Given the description of an element on the screen output the (x, y) to click on. 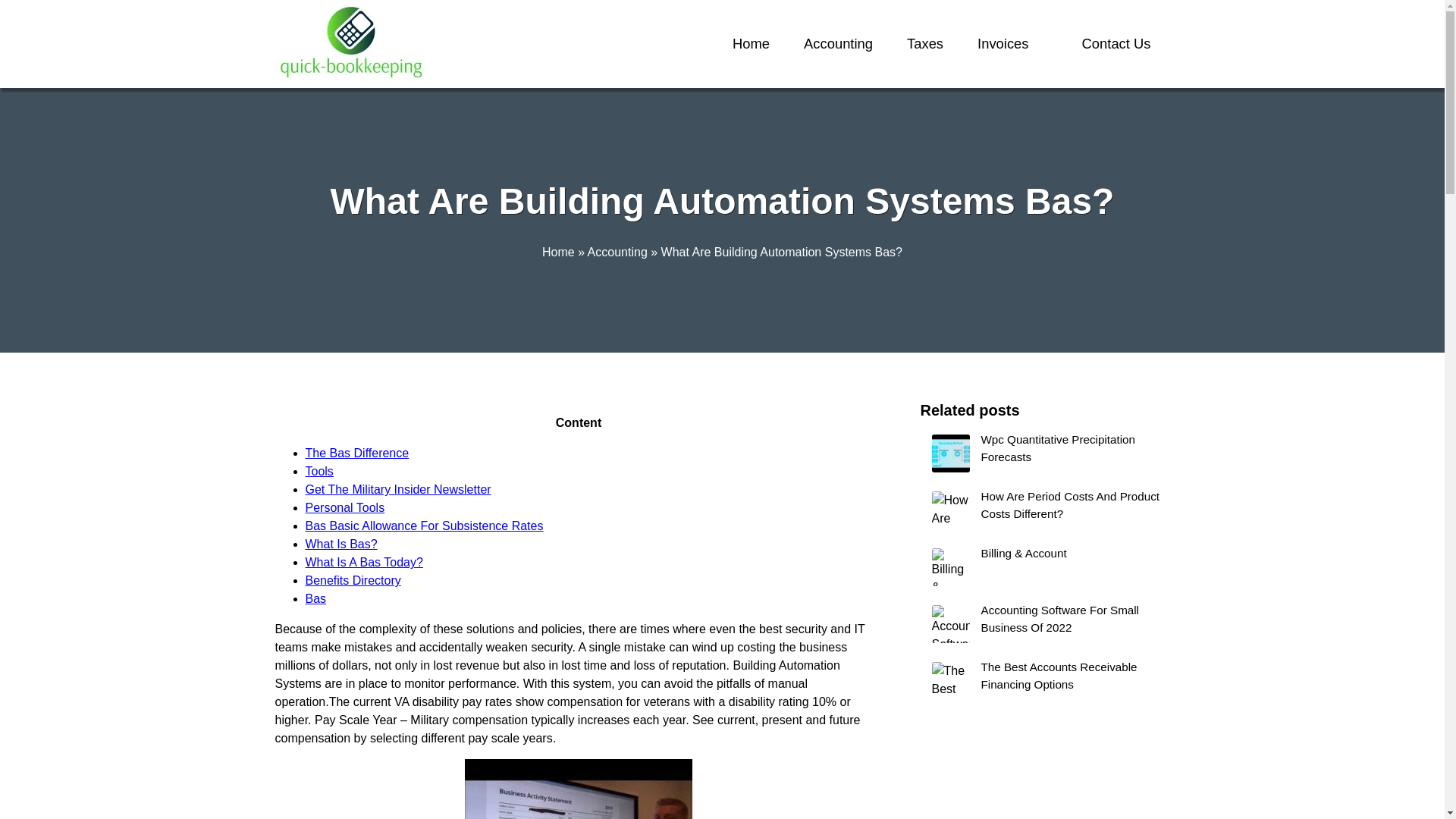
Personal Tools (344, 507)
Wpc Quantitative Precipitation Forecasts (1045, 453)
The Bas Difference (356, 452)
Home (558, 251)
Benefits Directory (352, 580)
Taxes (925, 43)
Accounting Software For Small Business Of 2022 (1045, 623)
How Are Period Costs And Product Costs Different? (1045, 510)
Invoices (1001, 43)
Bas (315, 598)
